Given the description of an element on the screen output the (x, y) to click on. 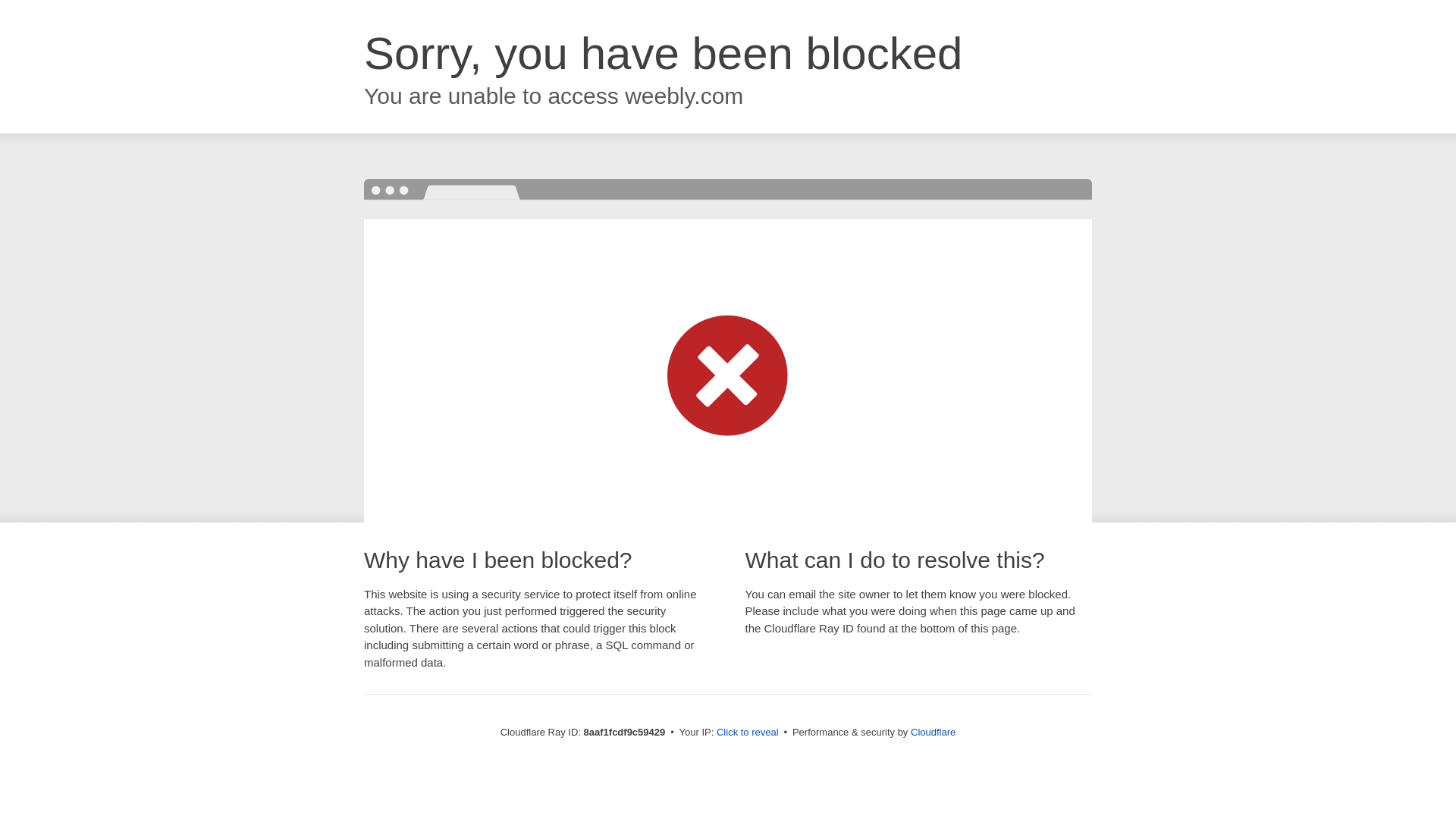
Click to reveal (747, 732)
Cloudflare (933, 731)
